Given the description of an element on the screen output the (x, y) to click on. 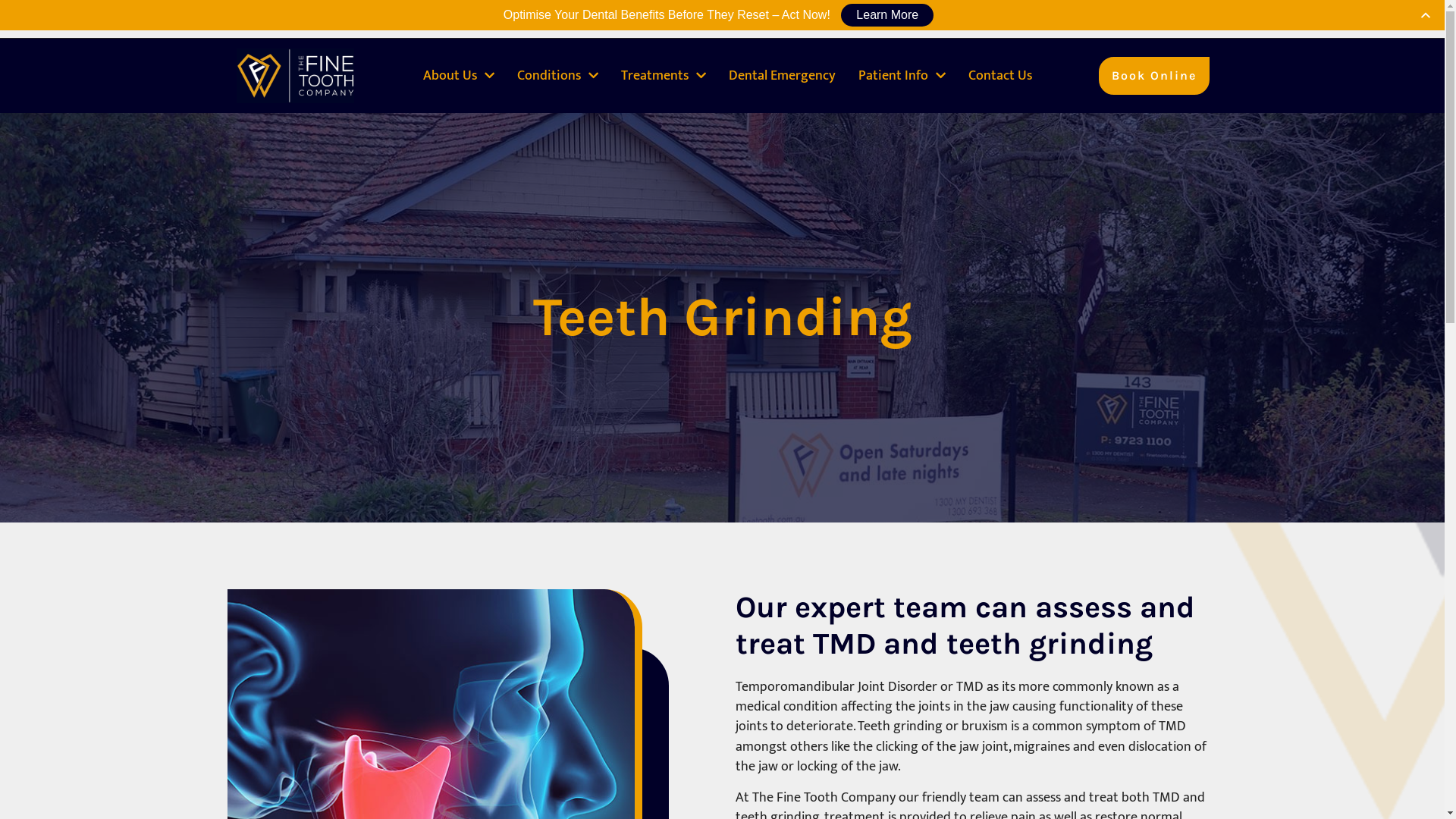
croydon@finetooth.com.au Element type: text (644, 18)
Treatments Element type: text (654, 75)
Learn More Element type: text (886, 14)
Book Online Element type: text (1153, 75)
Conditions Element type: text (548, 75)
Patient Info Element type: text (893, 75)
Dental Emergency Element type: text (781, 75)
Contact Us Element type: text (1000, 75)
143 Mt Dandenong Rd, Croydon VIC 3136 Element type: text (334, 18)
(03) 9723 1100 Element type: text (507, 18)
About Us Element type: text (449, 75)
